Given the description of an element on the screen output the (x, y) to click on. 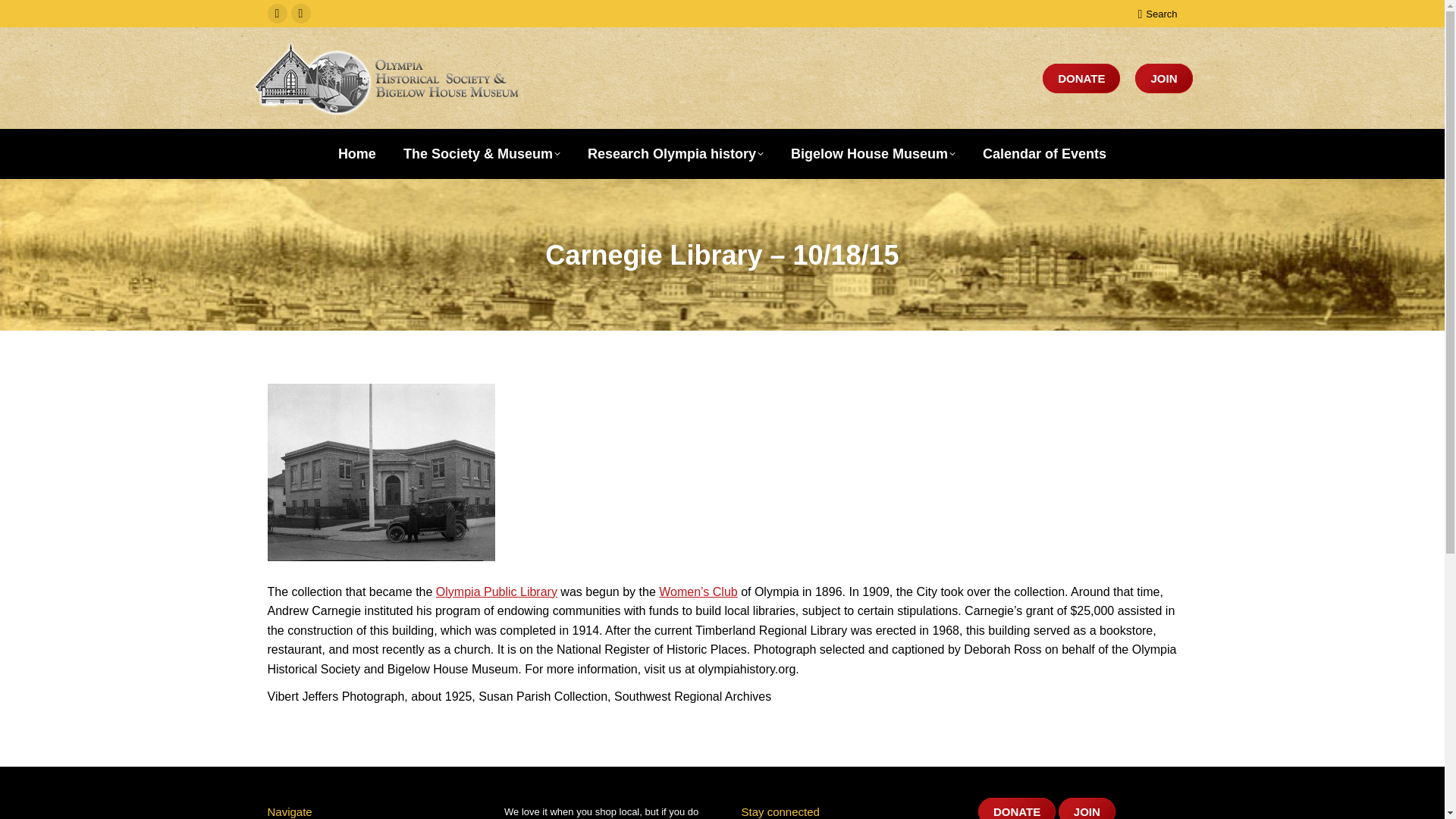
Research Olympia history (676, 153)
JOIN (1163, 78)
Go! (24, 16)
Home (356, 153)
DONATE (1080, 78)
X page opens in new window (301, 13)
X page opens in new window (301, 13)
Facebook page opens in new window (276, 13)
Search (1156, 12)
Facebook page opens in new window (276, 13)
